Given the description of an element on the screen output the (x, y) to click on. 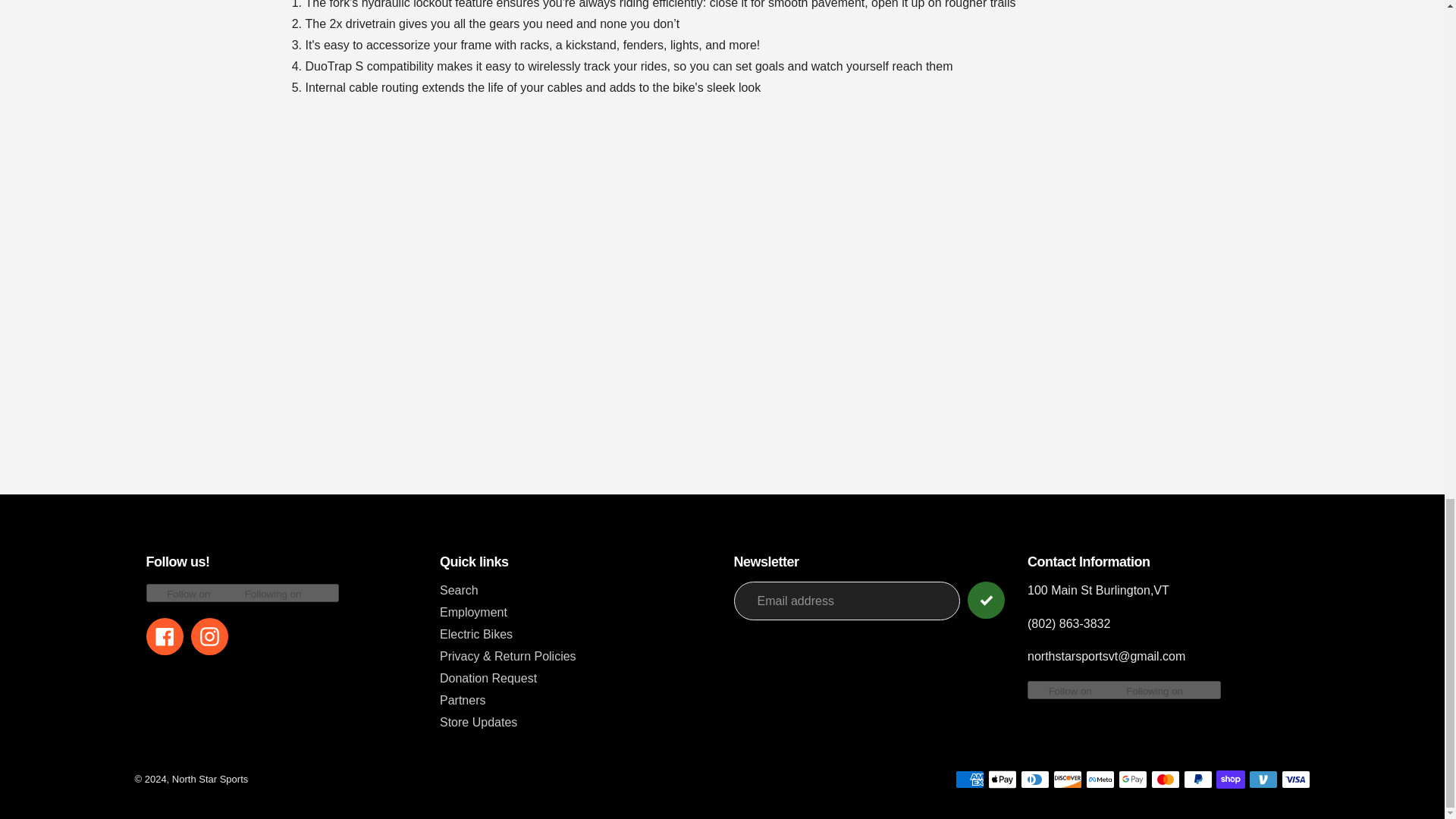
Apple Pay (1001, 779)
American Express (969, 779)
Diners Club (1034, 779)
